Given the description of an element on the screen output the (x, y) to click on. 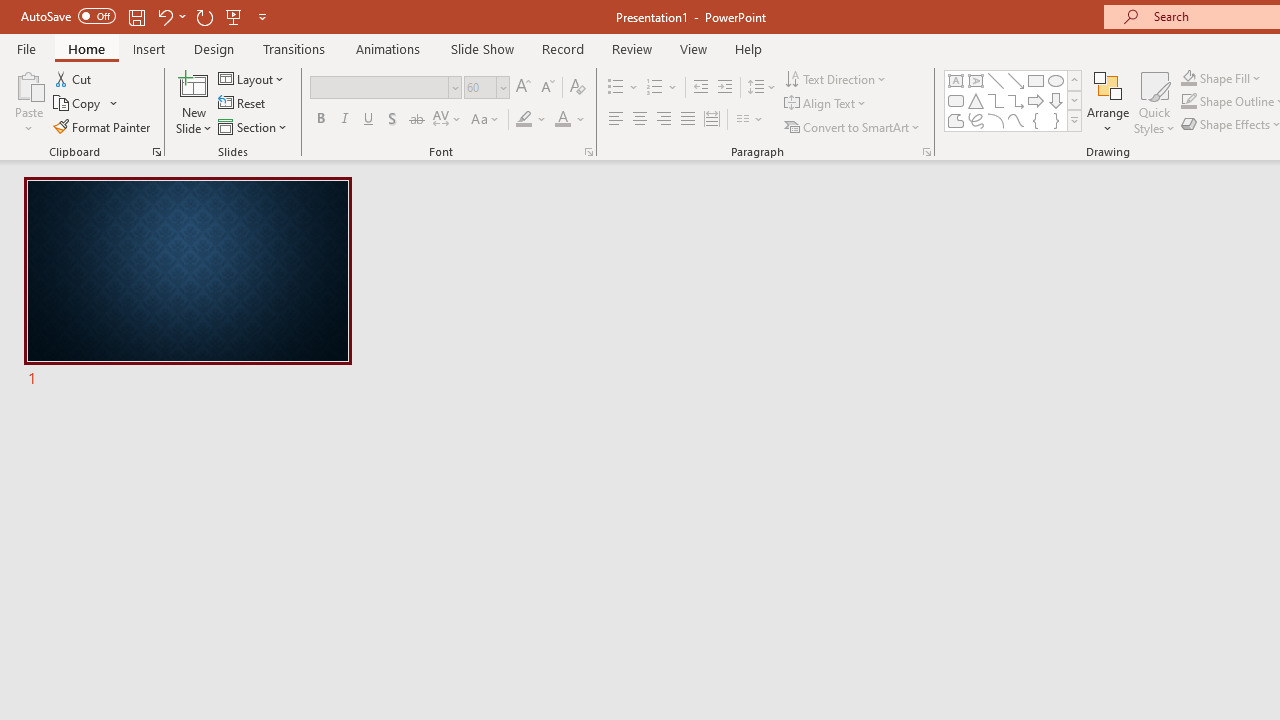
Line Spacing (762, 87)
Arrow: Right (1035, 100)
Oval (1055, 80)
Italic (344, 119)
Align Left (616, 119)
Justify (687, 119)
Section (254, 126)
